Given the description of an element on the screen output the (x, y) to click on. 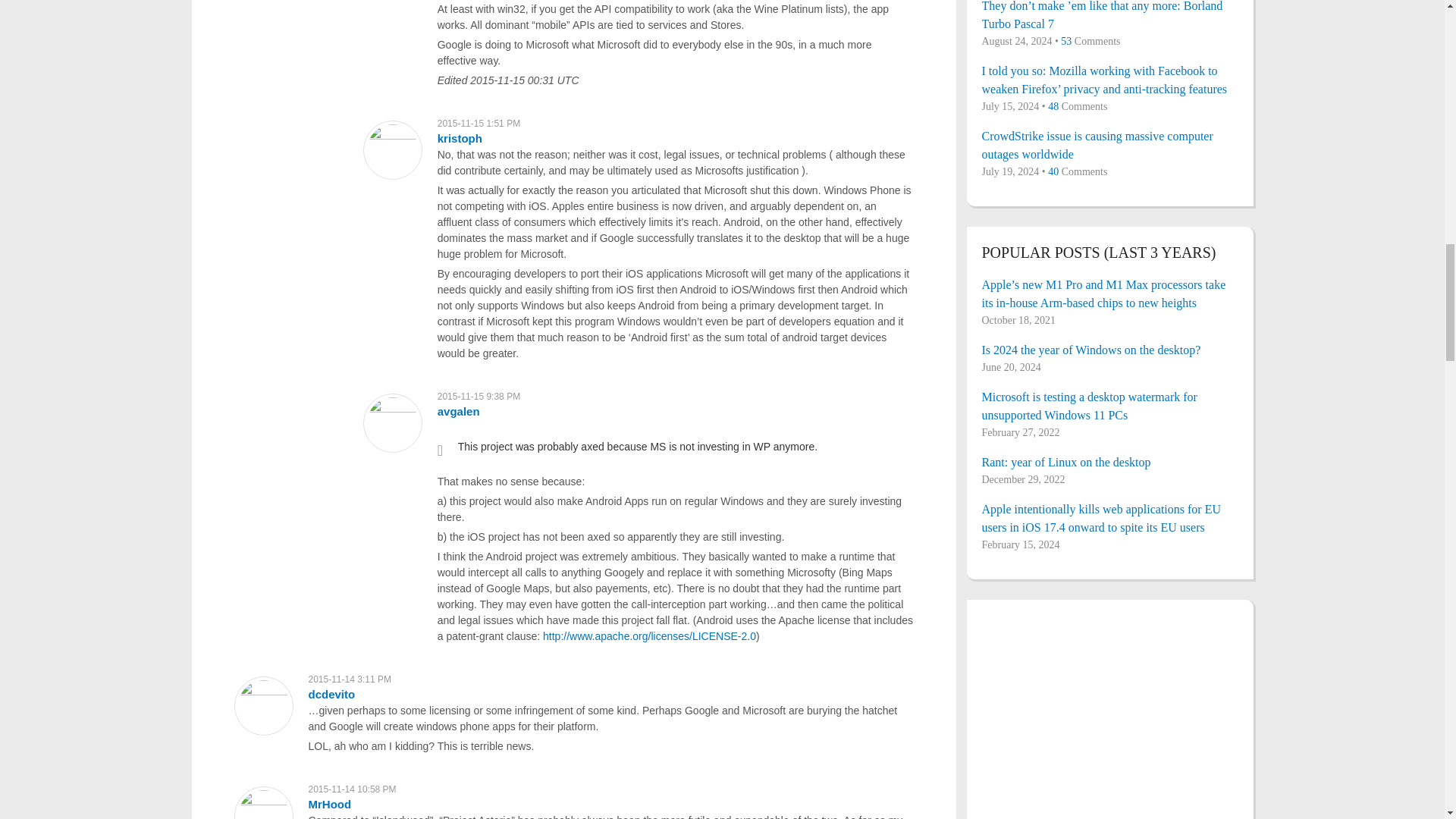
kristoph (459, 137)
MrHood (328, 803)
dcdevito (331, 694)
avgalen (459, 410)
